Given the description of an element on the screen output the (x, y) to click on. 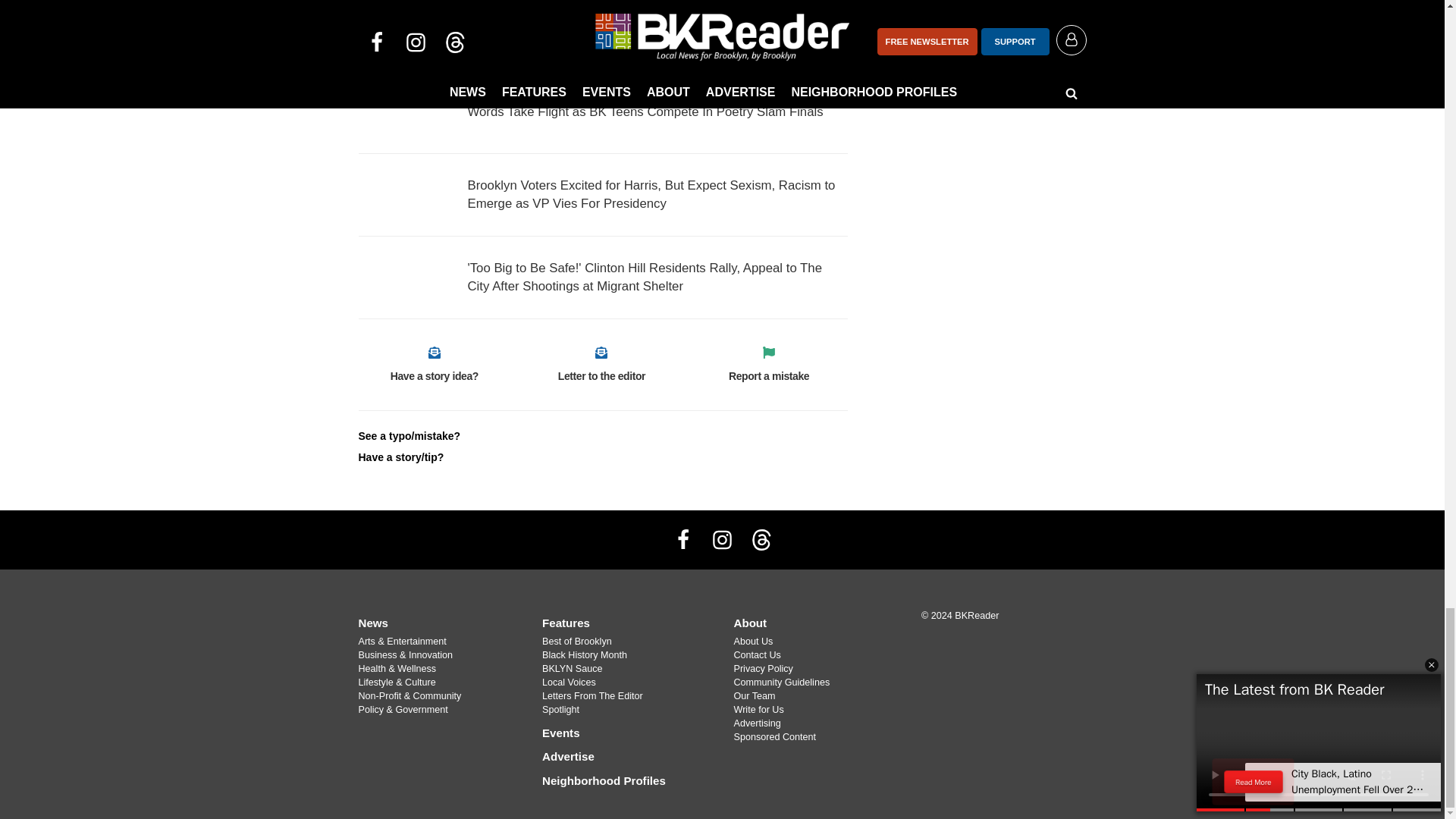
Instagram (721, 539)
Threads (760, 539)
Facebook (683, 539)
